Given the description of an element on the screen output the (x, y) to click on. 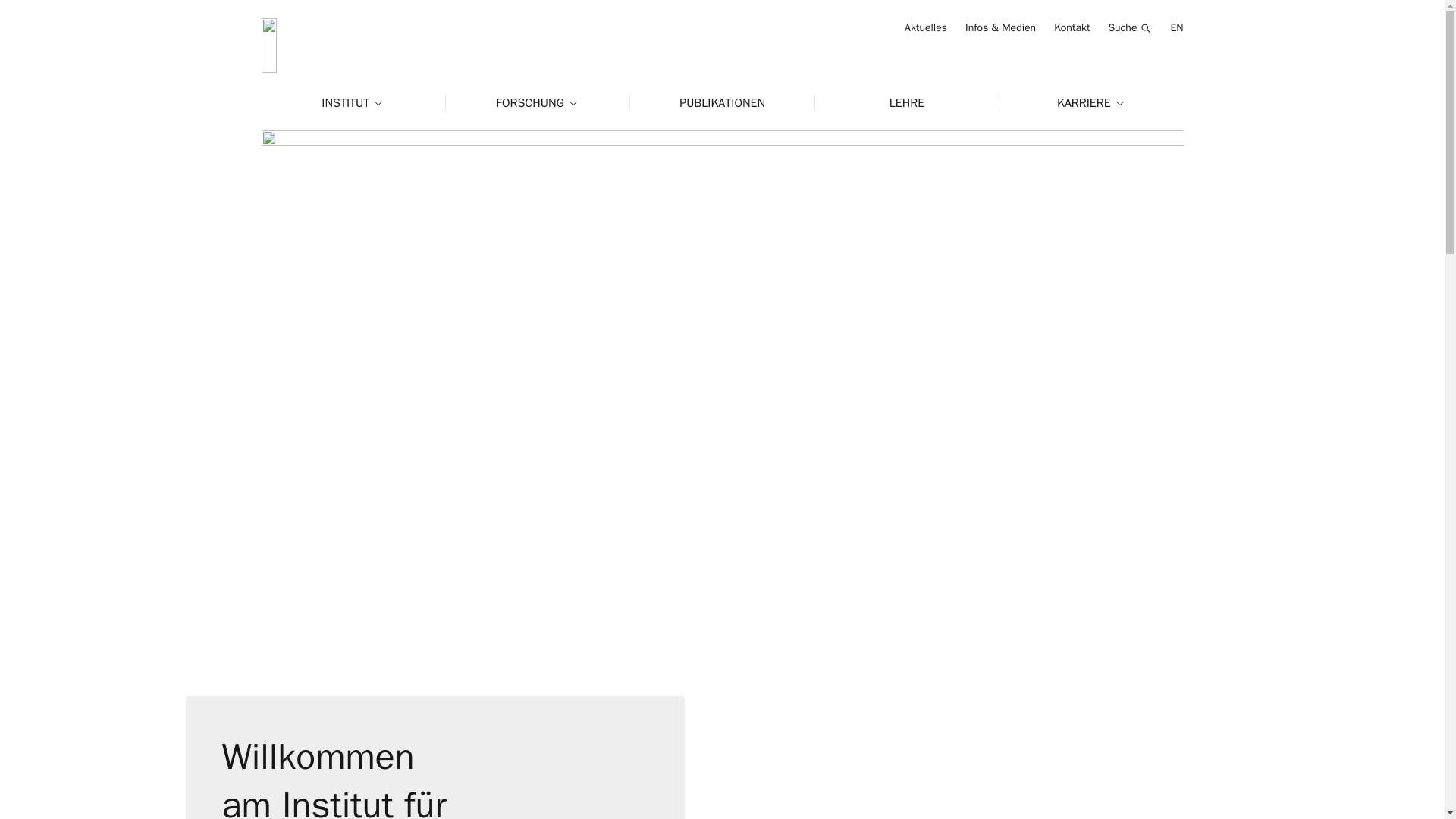
INSTITUT (352, 103)
Kontakt (1071, 27)
FORSCHUNG (537, 103)
Suche (1129, 28)
EN (1176, 27)
Aktuelles (925, 27)
